Given the description of an element on the screen output the (x, y) to click on. 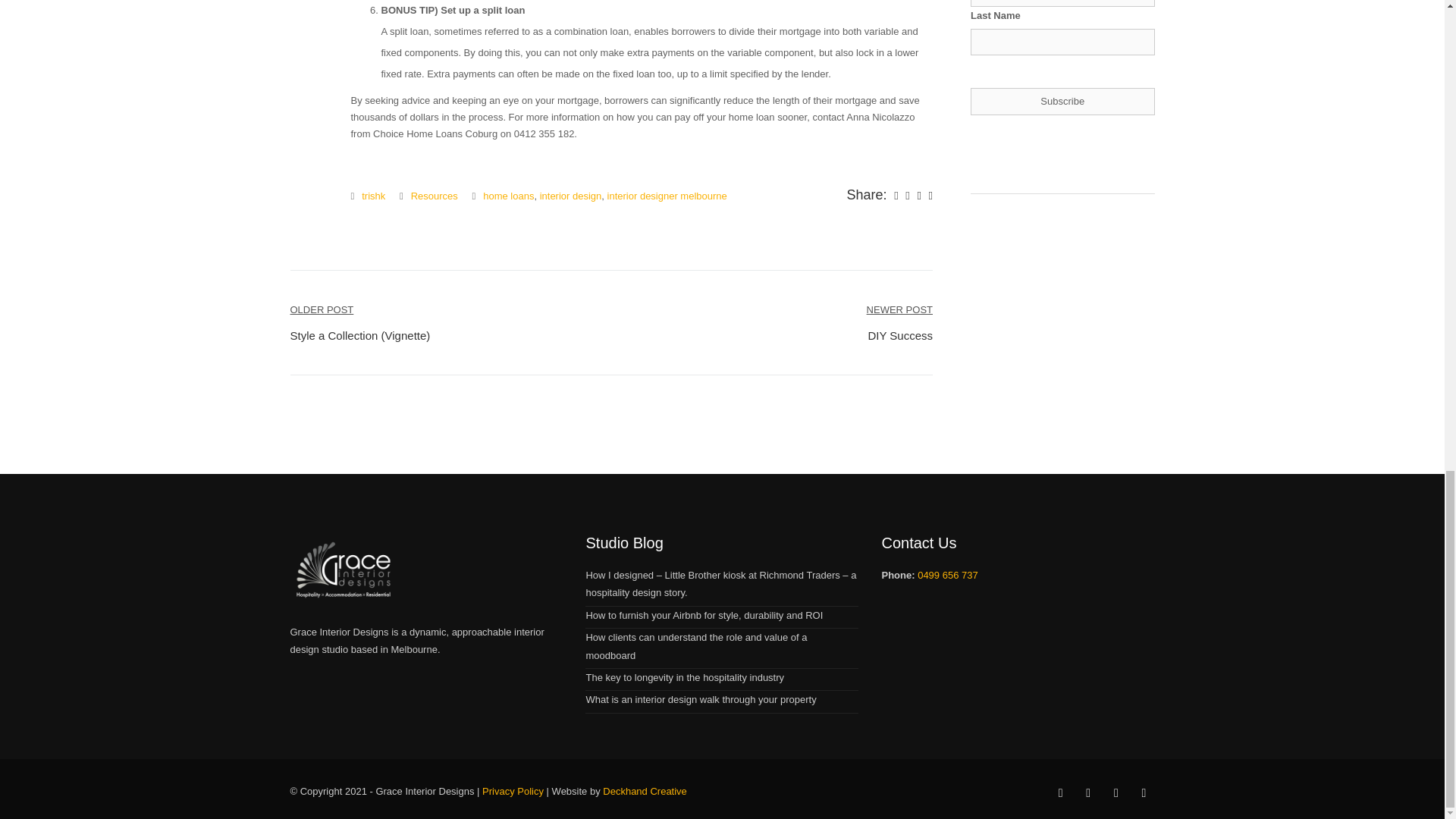
home loans (508, 195)
Posts by trishk (373, 195)
Subscribe (899, 322)
How clients can understand the role and value of a moodboard (1062, 100)
The key to longevity in the hospitality industry  (695, 645)
Resources (685, 677)
interior design (434, 195)
trishk (571, 195)
interior designer melbourne (373, 195)
Subscribe (666, 195)
How to furnish your Airbnb for style, durability and ROI (1062, 100)
